Given the description of an element on the screen output the (x, y) to click on. 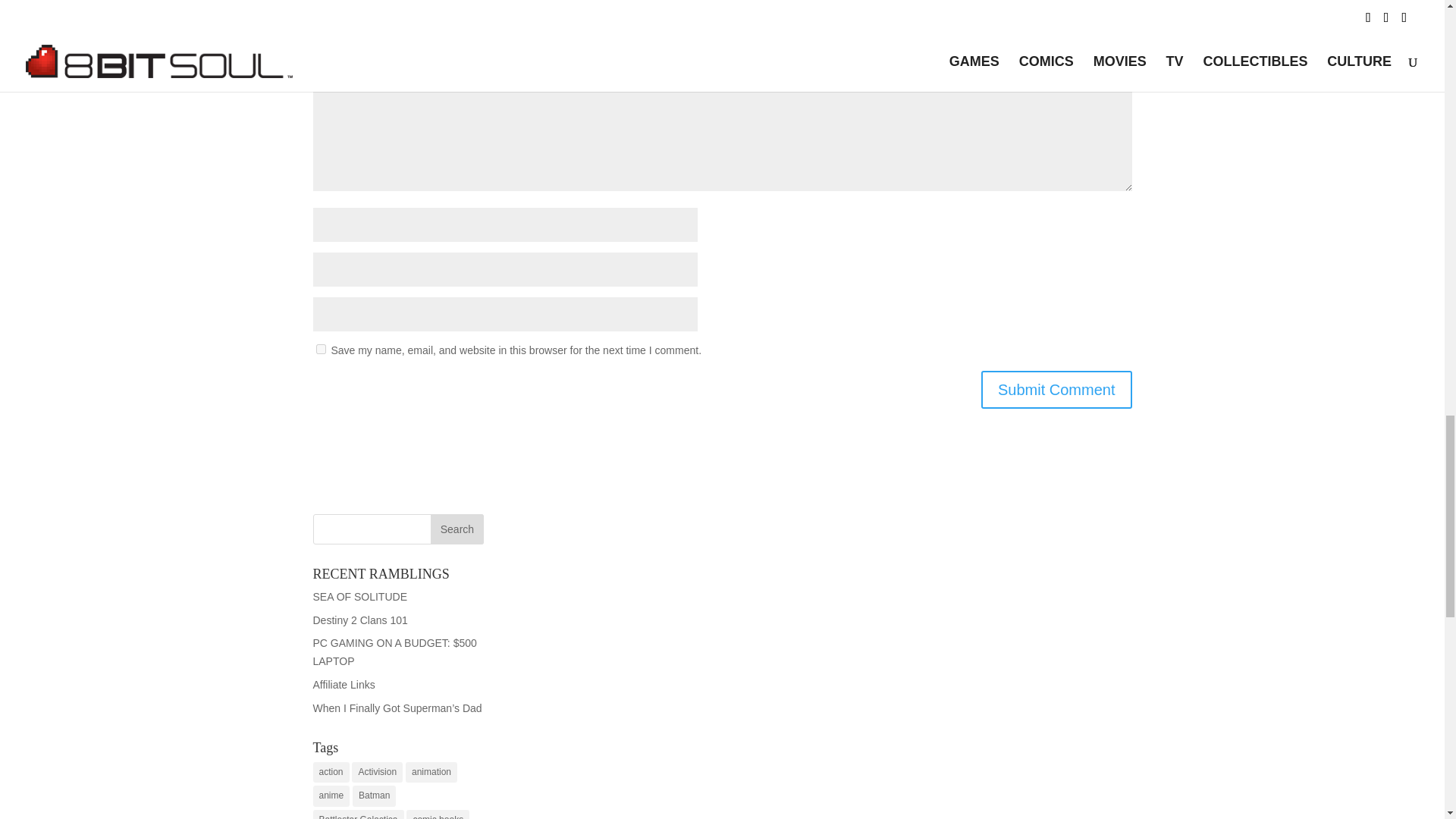
Submit Comment (1056, 389)
yes (319, 348)
animation (431, 772)
Battlestar Galactica (358, 814)
anime (331, 795)
Batman (374, 795)
Destiny 2 Clans 101 (360, 620)
Submit Comment (1056, 389)
comic books (437, 814)
Affiliate Links (343, 684)
